Given the description of an element on the screen output the (x, y) to click on. 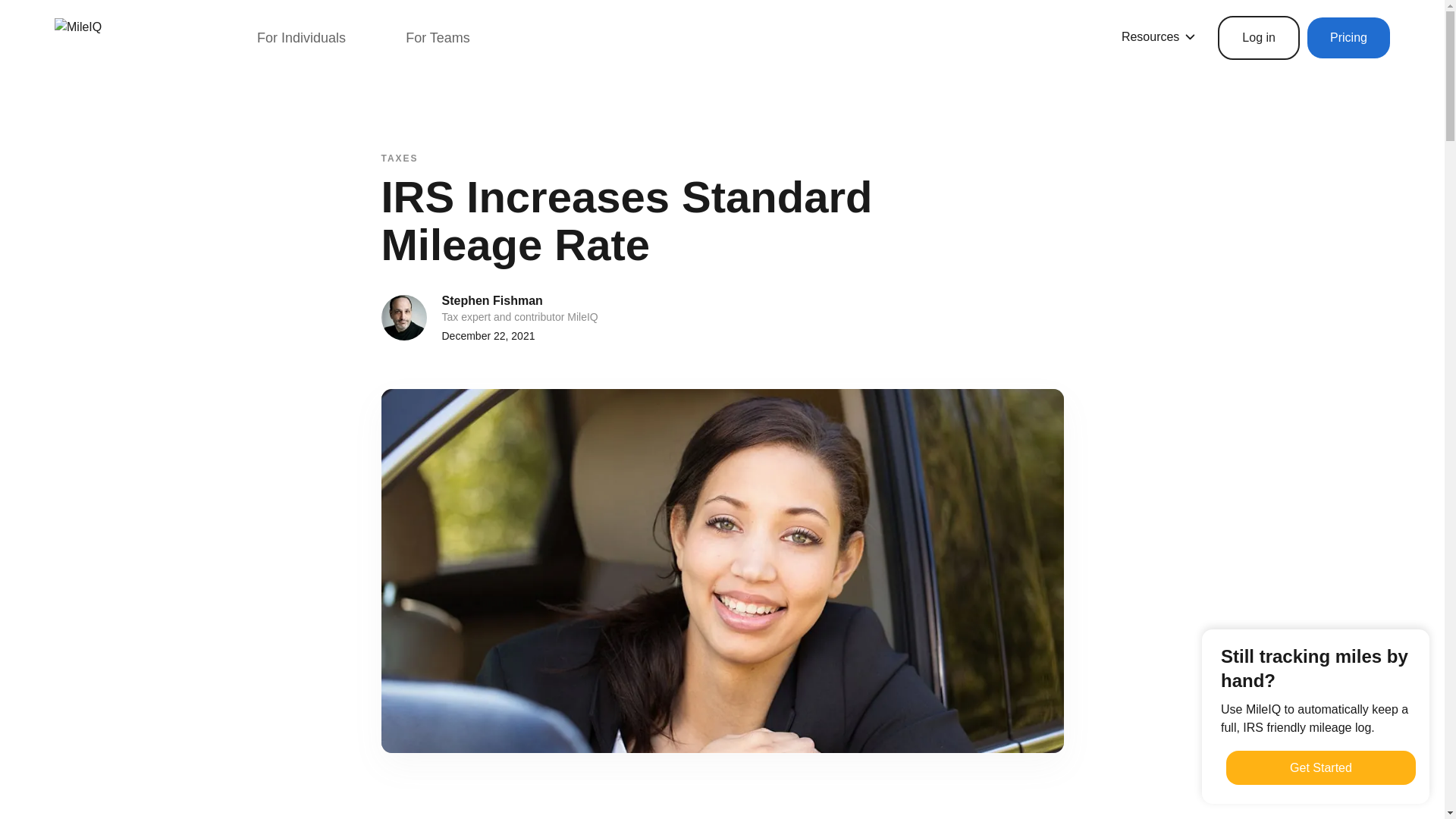
Resources (1158, 37)
Search (30, 15)
For Teams (437, 37)
Pricing (1348, 37)
For Individuals (300, 37)
Log in (1258, 37)
